Given the description of an element on the screen output the (x, y) to click on. 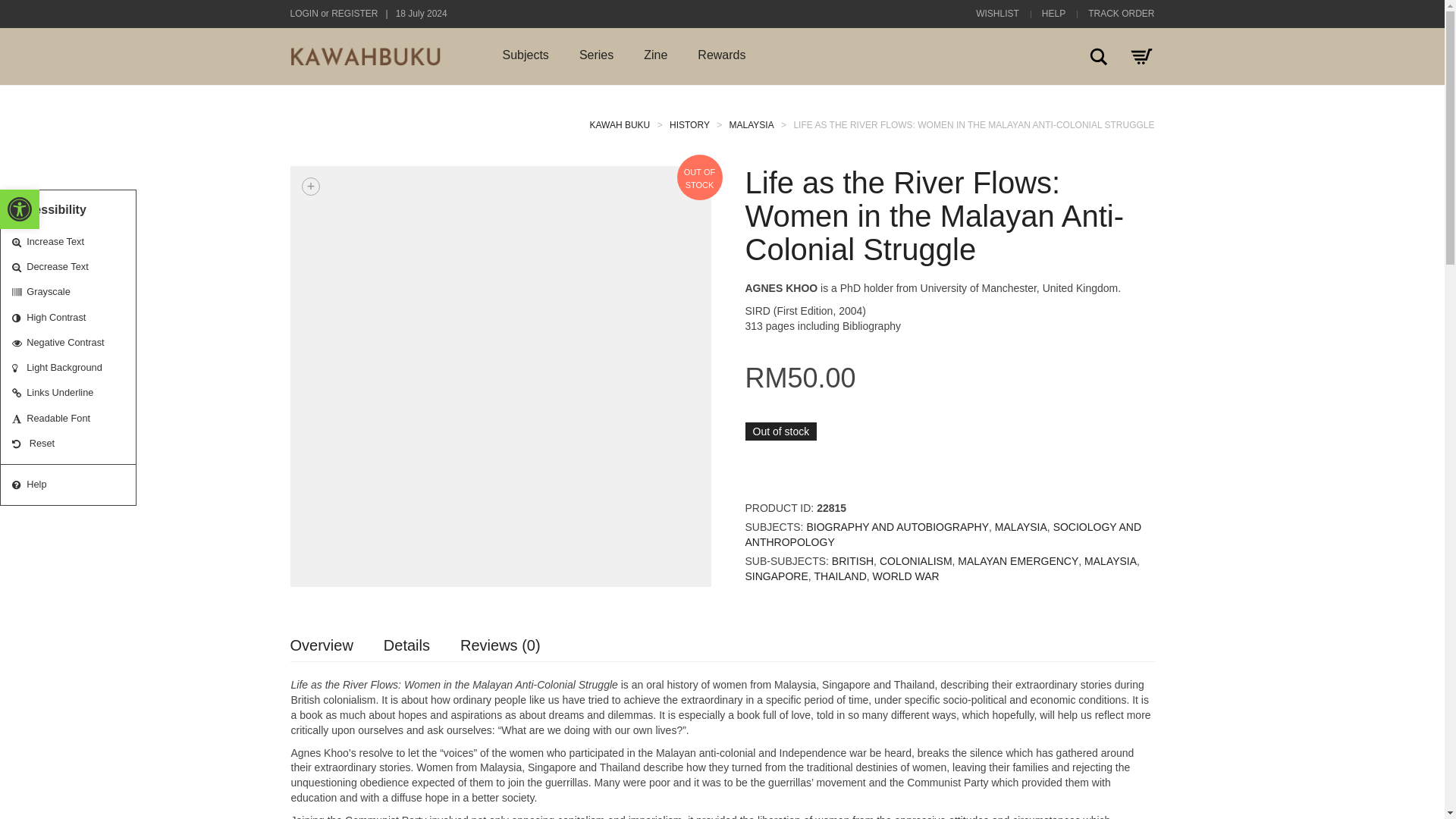
WISHLIST (997, 13)
Reset (18, 443)
Links Underline (18, 393)
Browse History (689, 124)
Accessibility (19, 209)
Go to Kawah Buku. (619, 124)
REGISTER (354, 13)
Negative Contrast (18, 343)
Light Background (18, 368)
Help (18, 484)
High Contrast (18, 317)
Browse Malaysia (751, 124)
Increase Text (18, 242)
View full size (310, 186)
HELP (1053, 13)
